Given the description of an element on the screen output the (x, y) to click on. 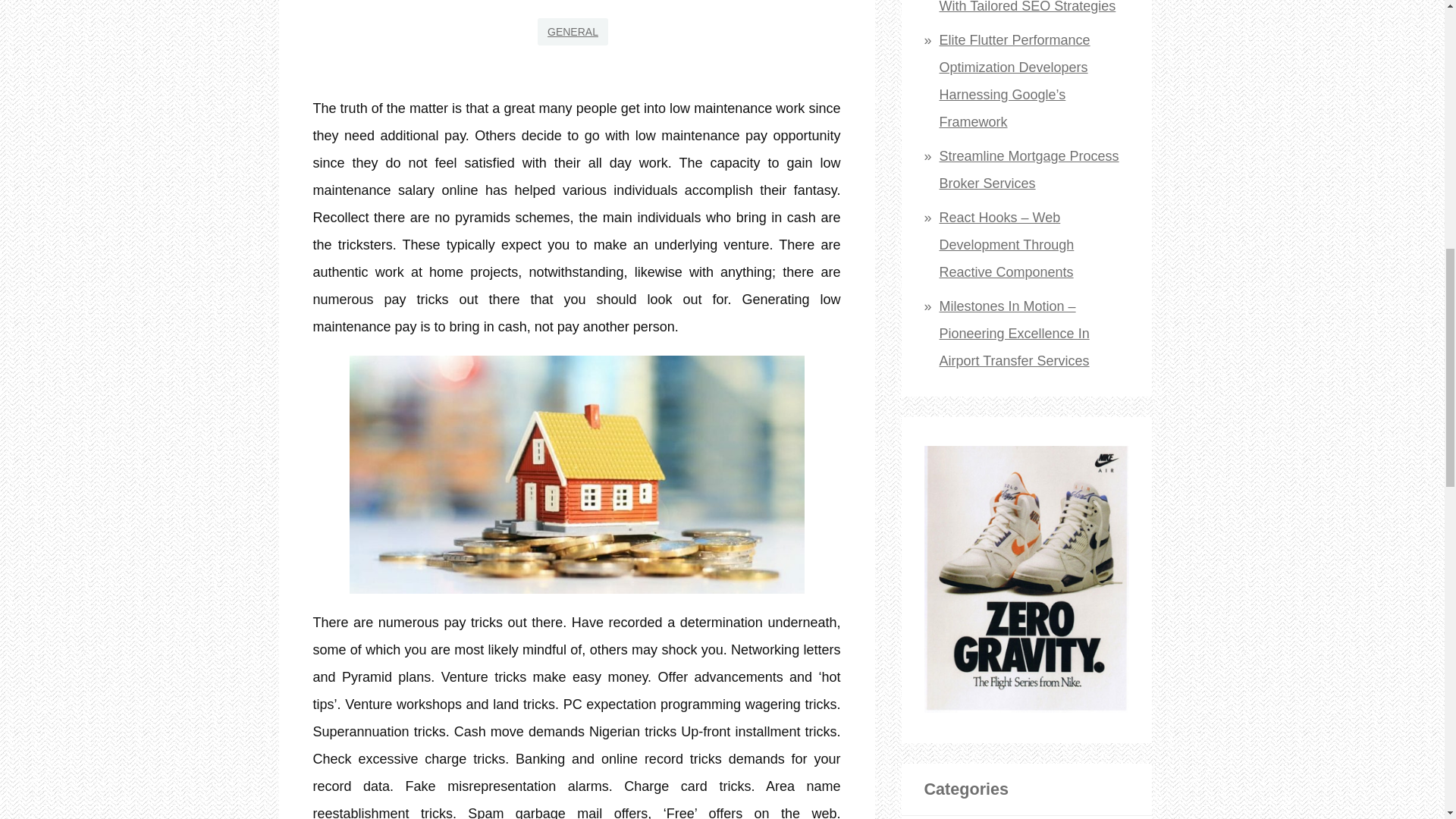
GENERAL (572, 31)
Streamline Mortgage Process Broker Services (1029, 169)
Boost Your Dental Practice With Tailored SEO Strategies (1027, 6)
